Given the description of an element on the screen output the (x, y) to click on. 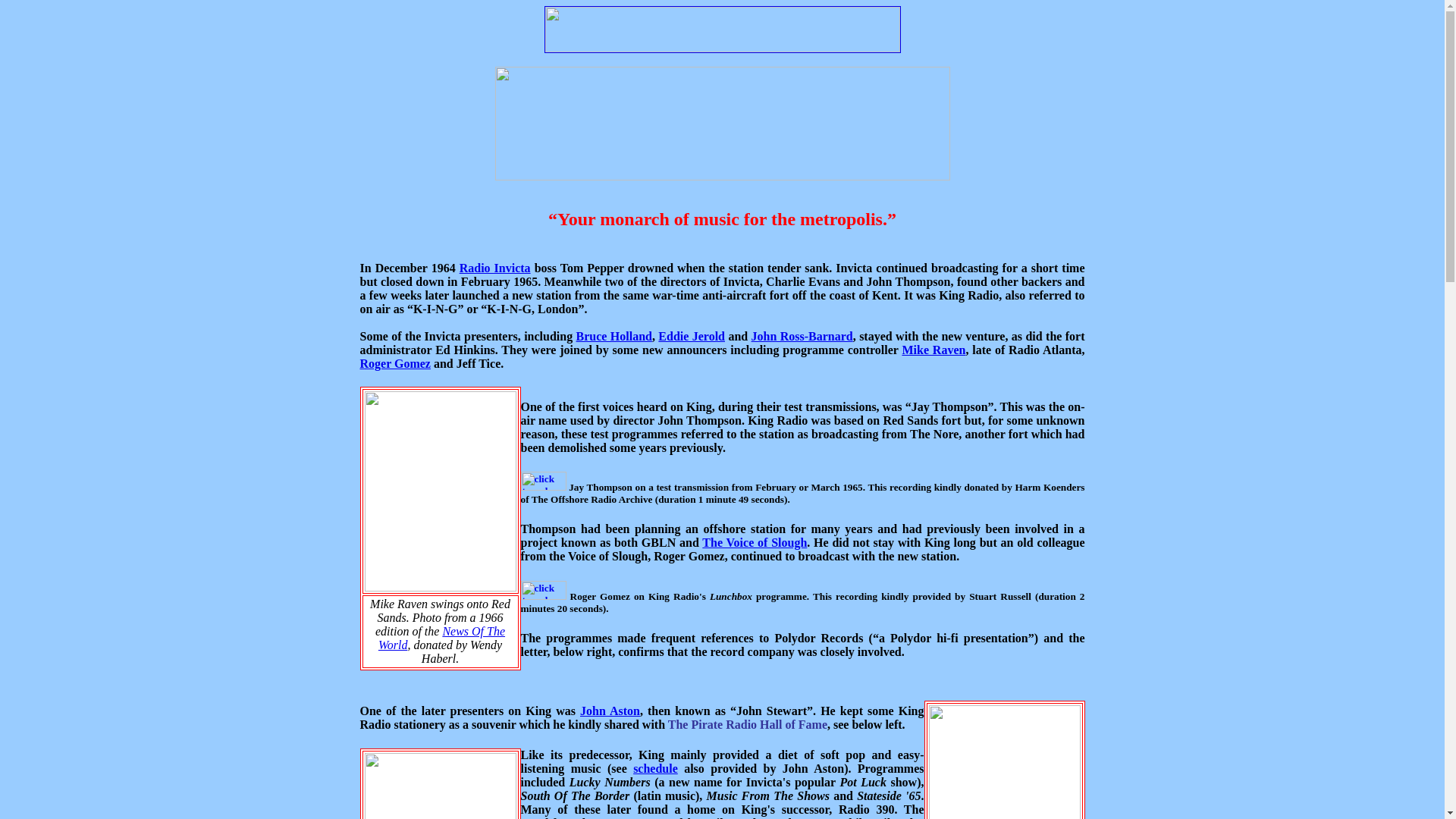
Bruce Holland (614, 336)
Mike Raven (933, 349)
Eddie Jerold (691, 336)
schedule (655, 768)
Roger Gomez (394, 363)
News Of The World (441, 637)
John Ross-Barnard (802, 336)
John Aston (609, 710)
The Voice of Slough (753, 542)
Radio Invicta (495, 267)
